Given the description of an element on the screen output the (x, y) to click on. 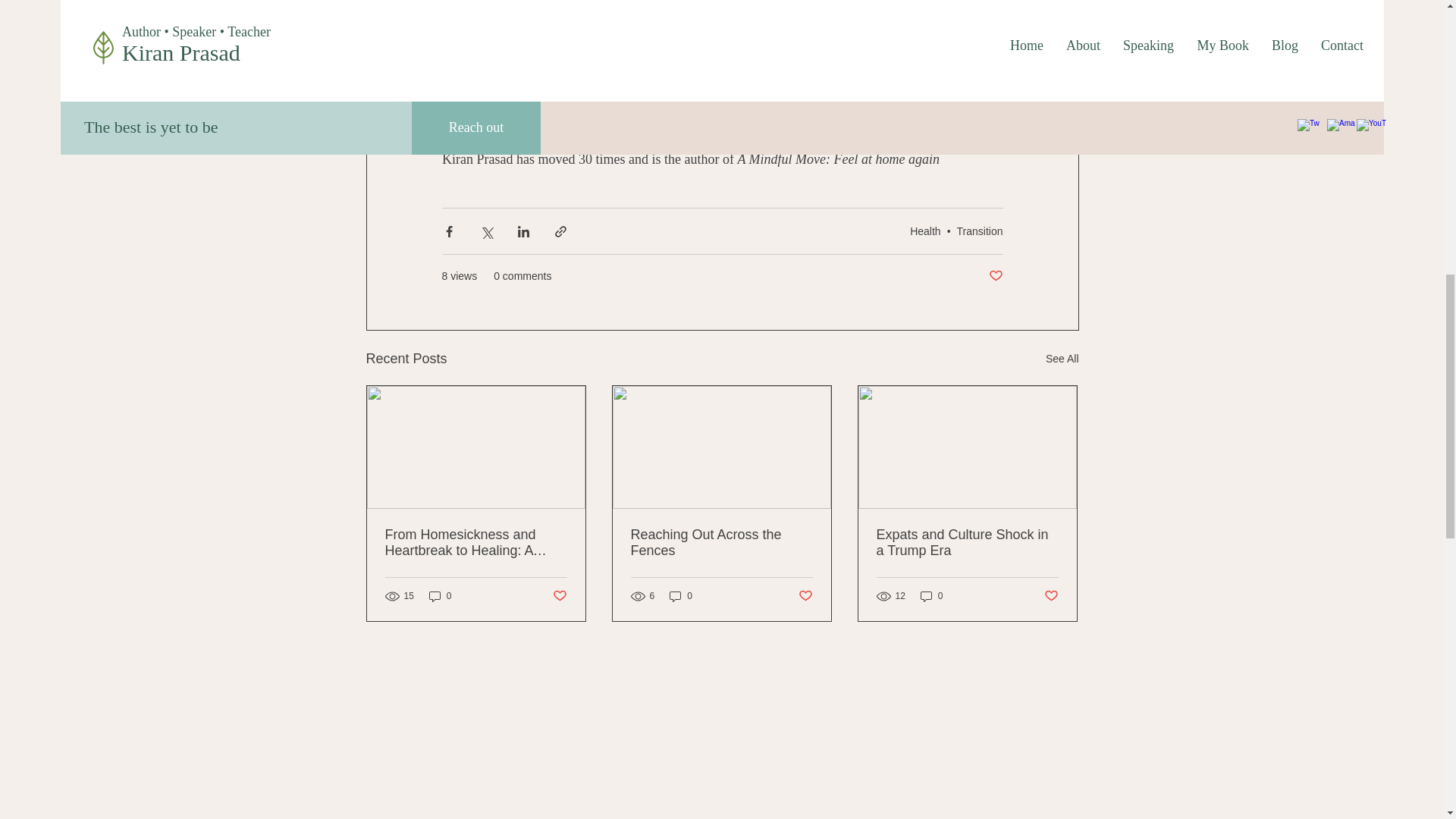
Health (925, 230)
Post not marked as liked (558, 596)
0 (931, 595)
Post not marked as liked (1050, 596)
Expats and Culture Shock in a Trump Era (967, 542)
Reaching Out Across the Fences (721, 542)
Transition (979, 230)
0 (681, 595)
See All (1061, 359)
Post not marked as liked (995, 276)
Post not marked as liked (804, 596)
0 (440, 595)
